Given the description of an element on the screen output the (x, y) to click on. 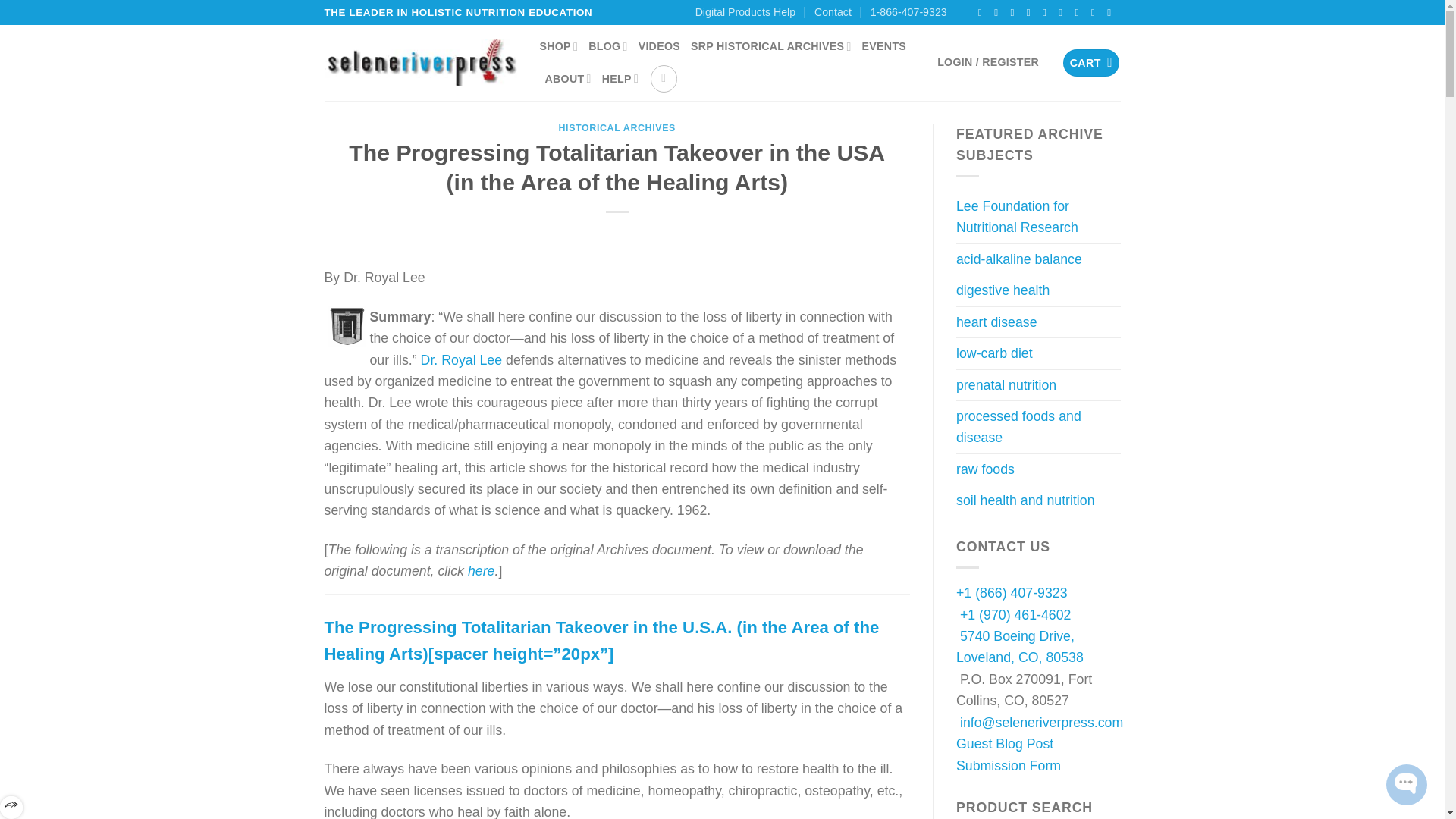
Digital Products Help (744, 12)
Cart (1090, 62)
SHOP (559, 46)
Contact (832, 12)
Login (988, 61)
1-866-407-9323 (908, 12)
